Given the description of an element on the screen output the (x, y) to click on. 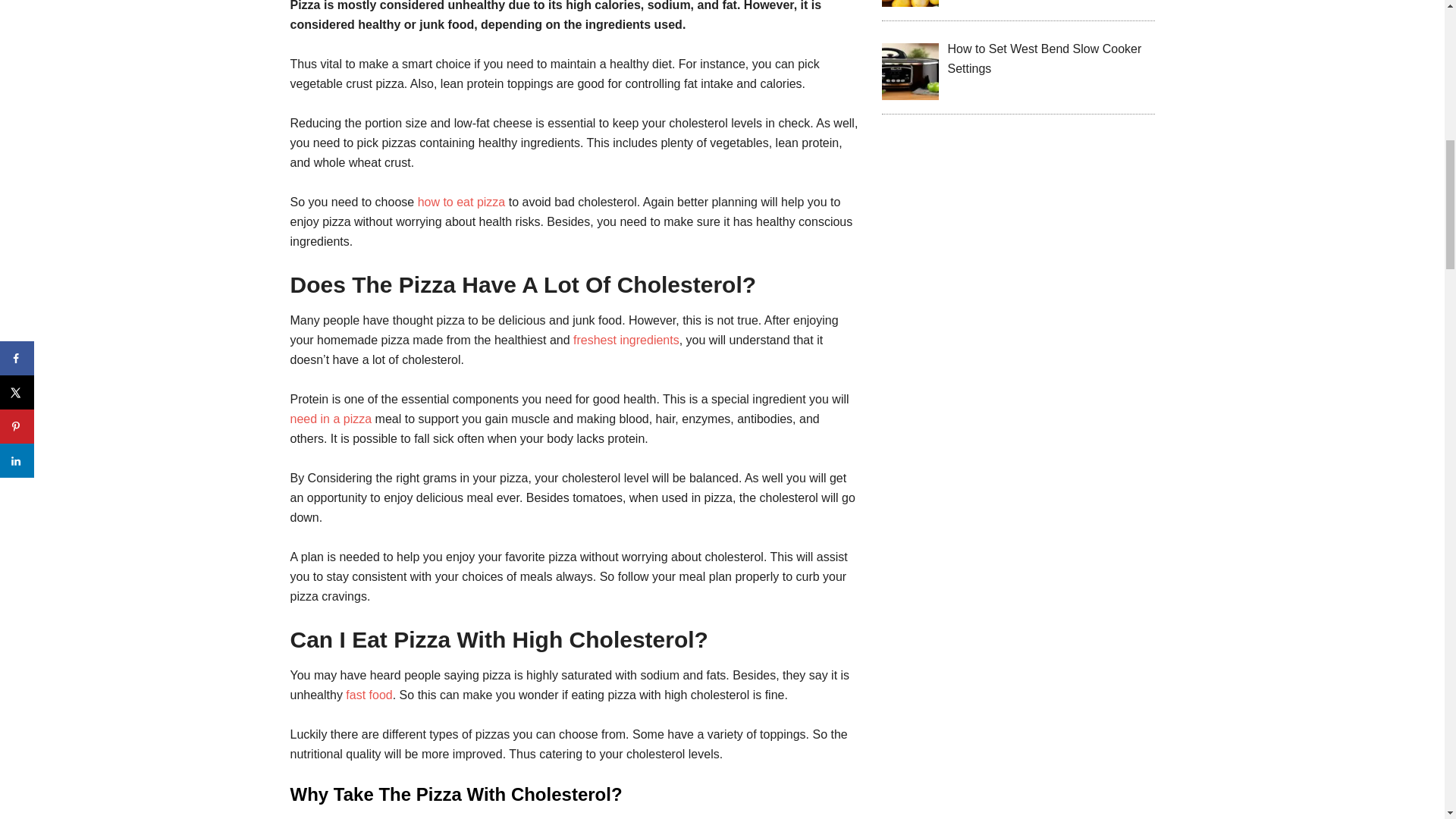
how to eat pizza (461, 201)
fast food (368, 694)
need in a pizza (331, 418)
freshest ingredients (626, 339)
